Given the description of an element on the screen output the (x, y) to click on. 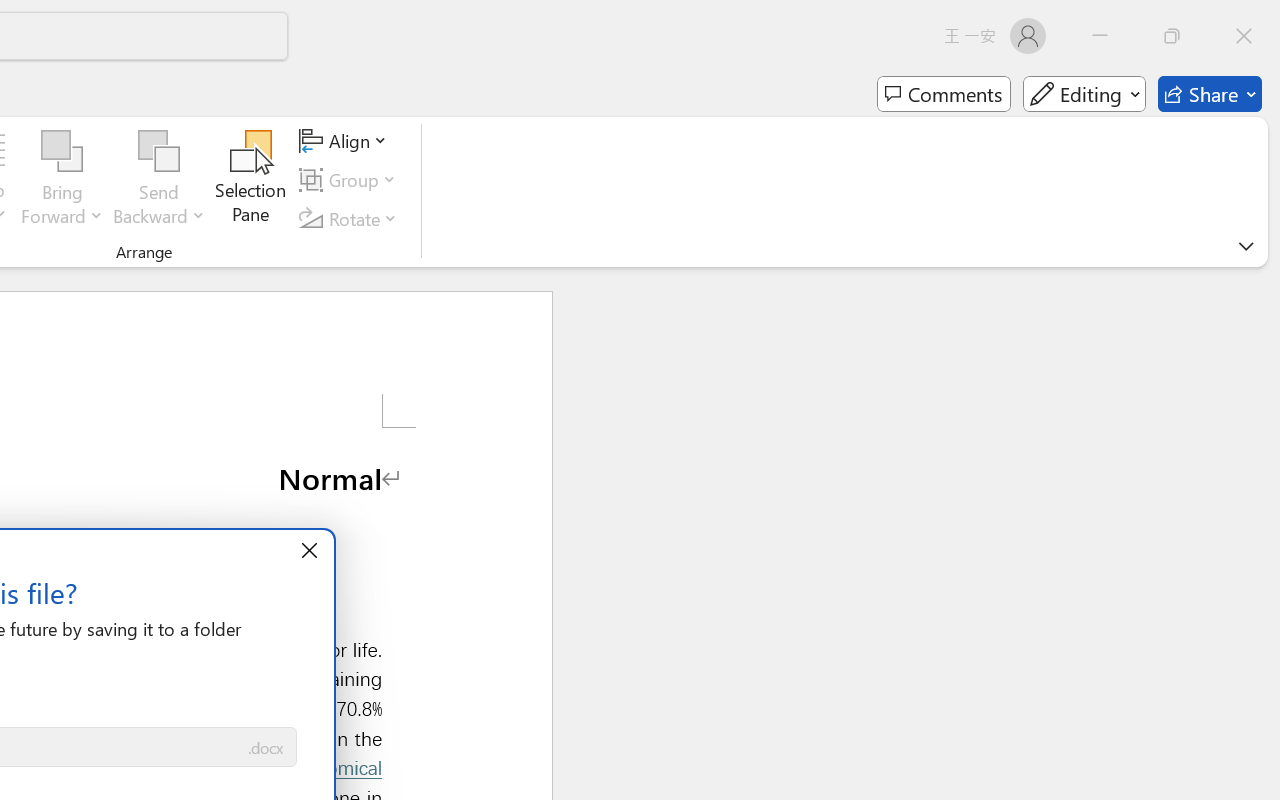
Send Backward (159, 179)
Rotate (351, 218)
Group (351, 179)
Send Backward (159, 151)
